Given the description of an element on the screen output the (x, y) to click on. 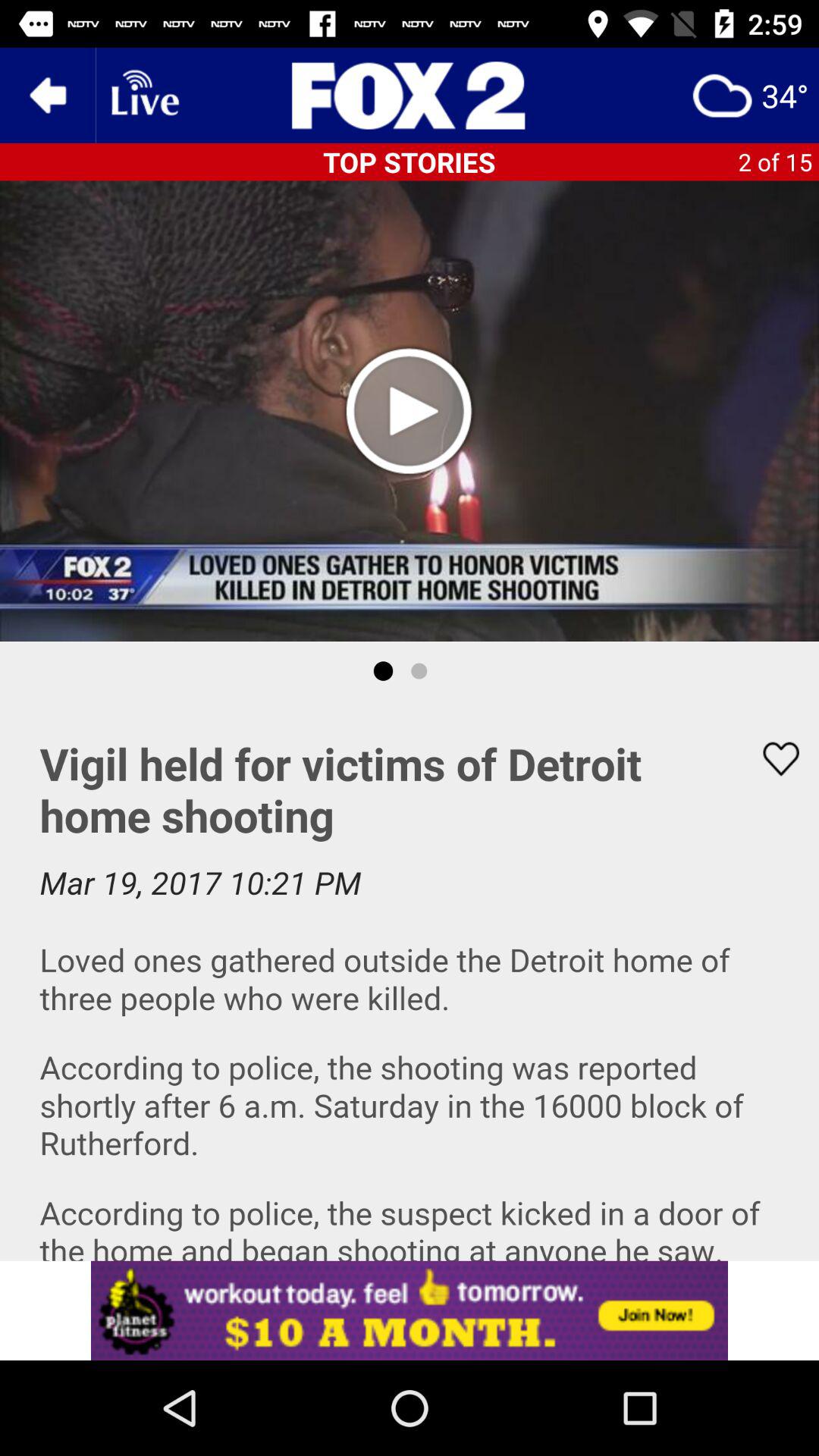
know about the advertisement (409, 95)
